Given the description of an element on the screen output the (x, y) to click on. 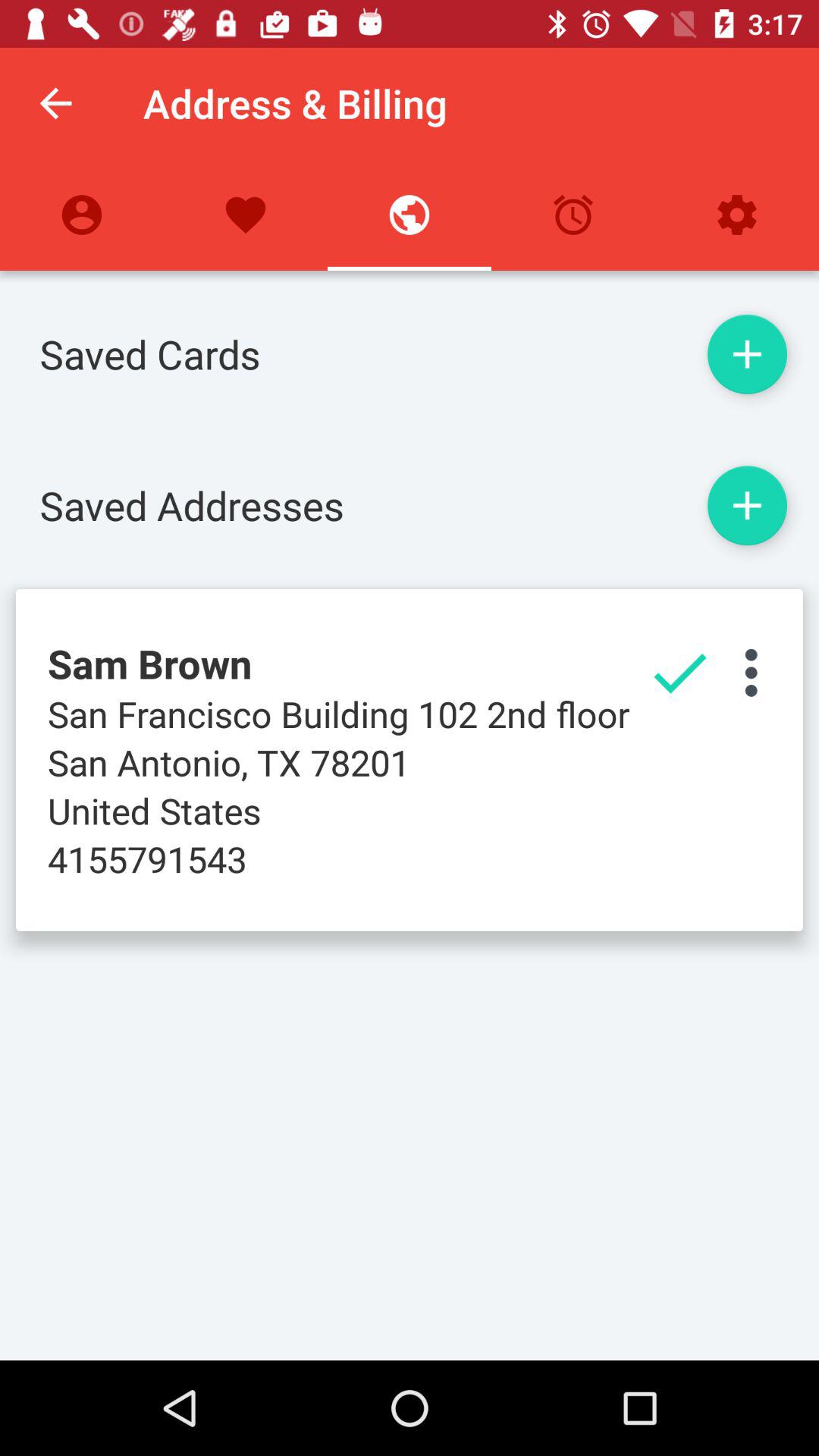
expand saved cards (747, 353)
